Given the description of an element on the screen output the (x, y) to click on. 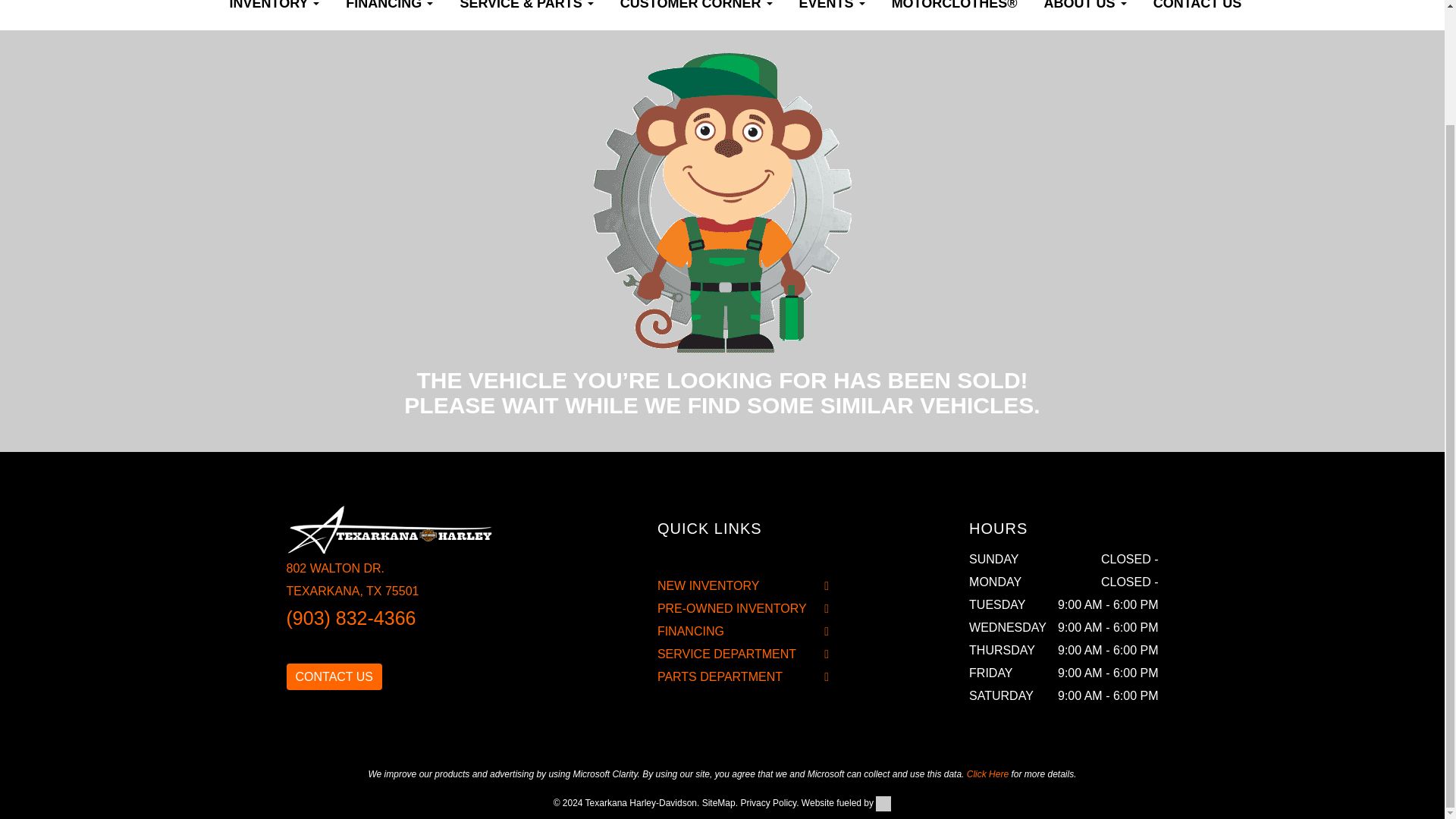
FINANCING (389, 11)
CUSTOMER CORNER (696, 11)
Home (203, 3)
Inventory (274, 11)
INVENTORY (274, 11)
Financing (389, 11)
